Given the description of an element on the screen output the (x, y) to click on. 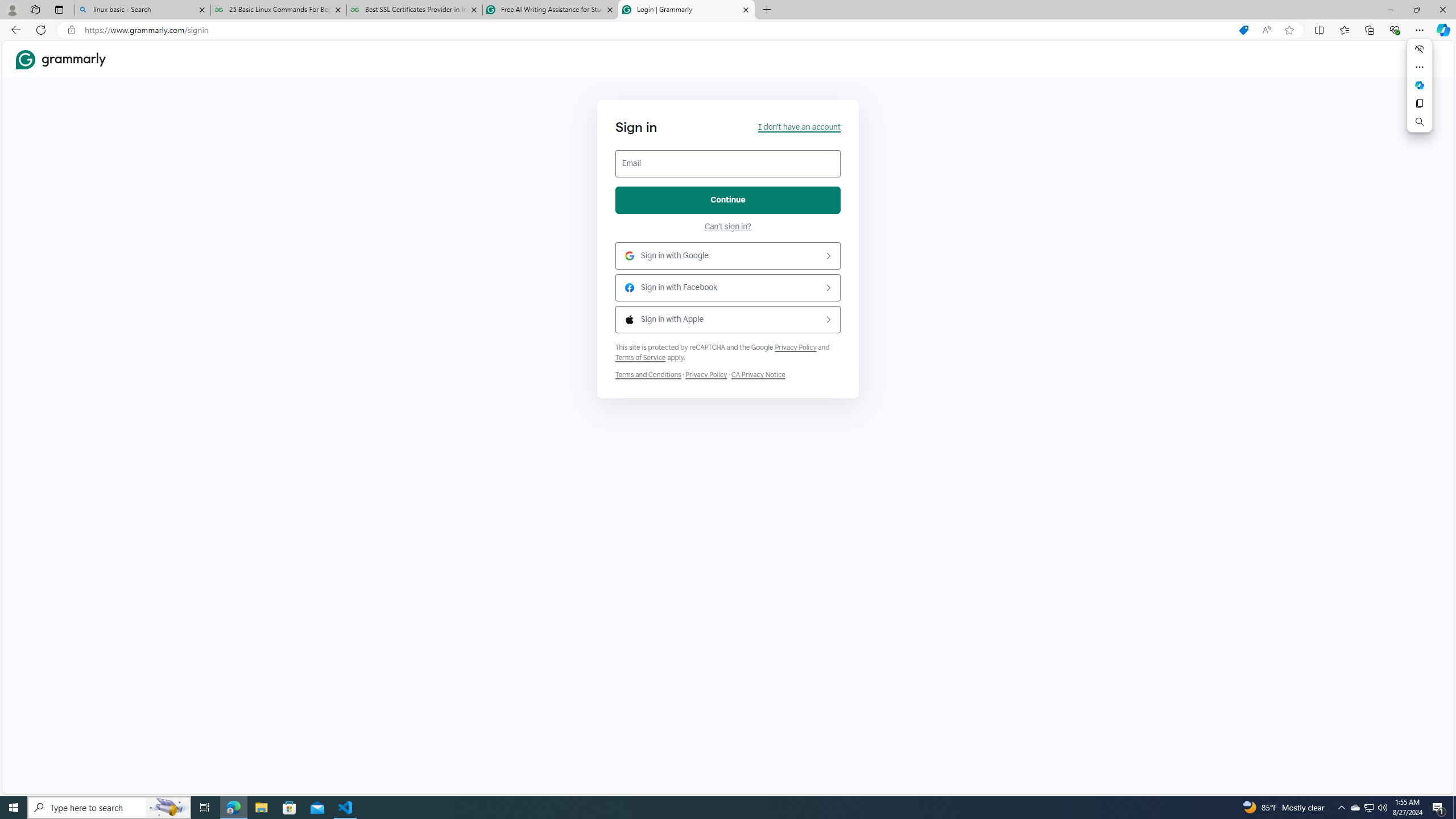
Ask Copilot (1419, 85)
Copy (1419, 103)
Google Privacy Policy (795, 347)
Free AI Writing Assistance for Students | Grammarly (550, 9)
Grammarly Home (61, 59)
linux basic - Search (142, 9)
